Given the description of an element on the screen output the (x, y) to click on. 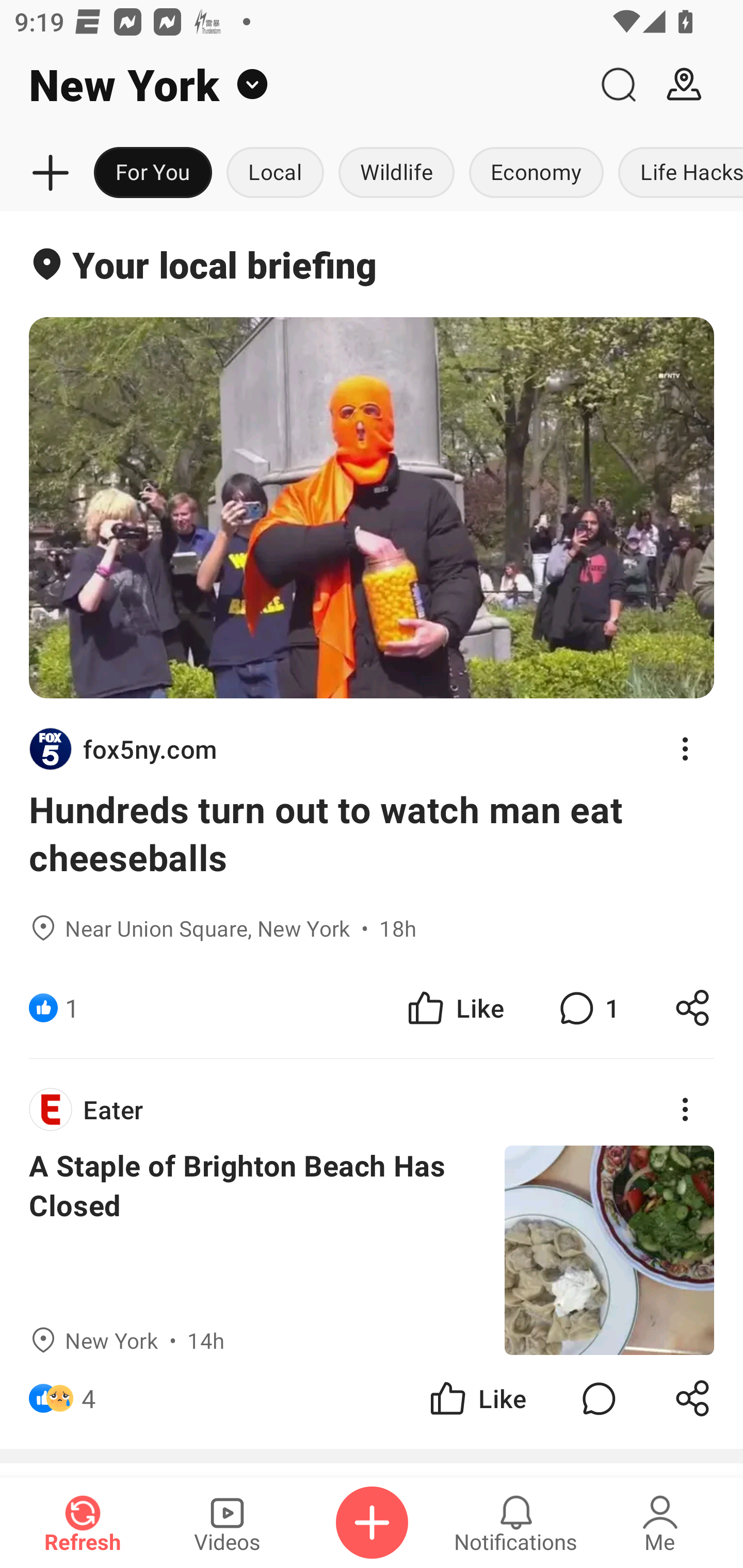
New York (292, 84)
For You (152, 172)
Local (275, 172)
Wildlife (396, 172)
Economy (536, 172)
Life Hacks (676, 172)
1 (72, 1007)
Like (454, 1007)
1 (587, 1007)
4 (88, 1397)
Like (476, 1397)
Videos (227, 1522)
Notifications (516, 1522)
Me (659, 1522)
